Given the description of an element on the screen output the (x, y) to click on. 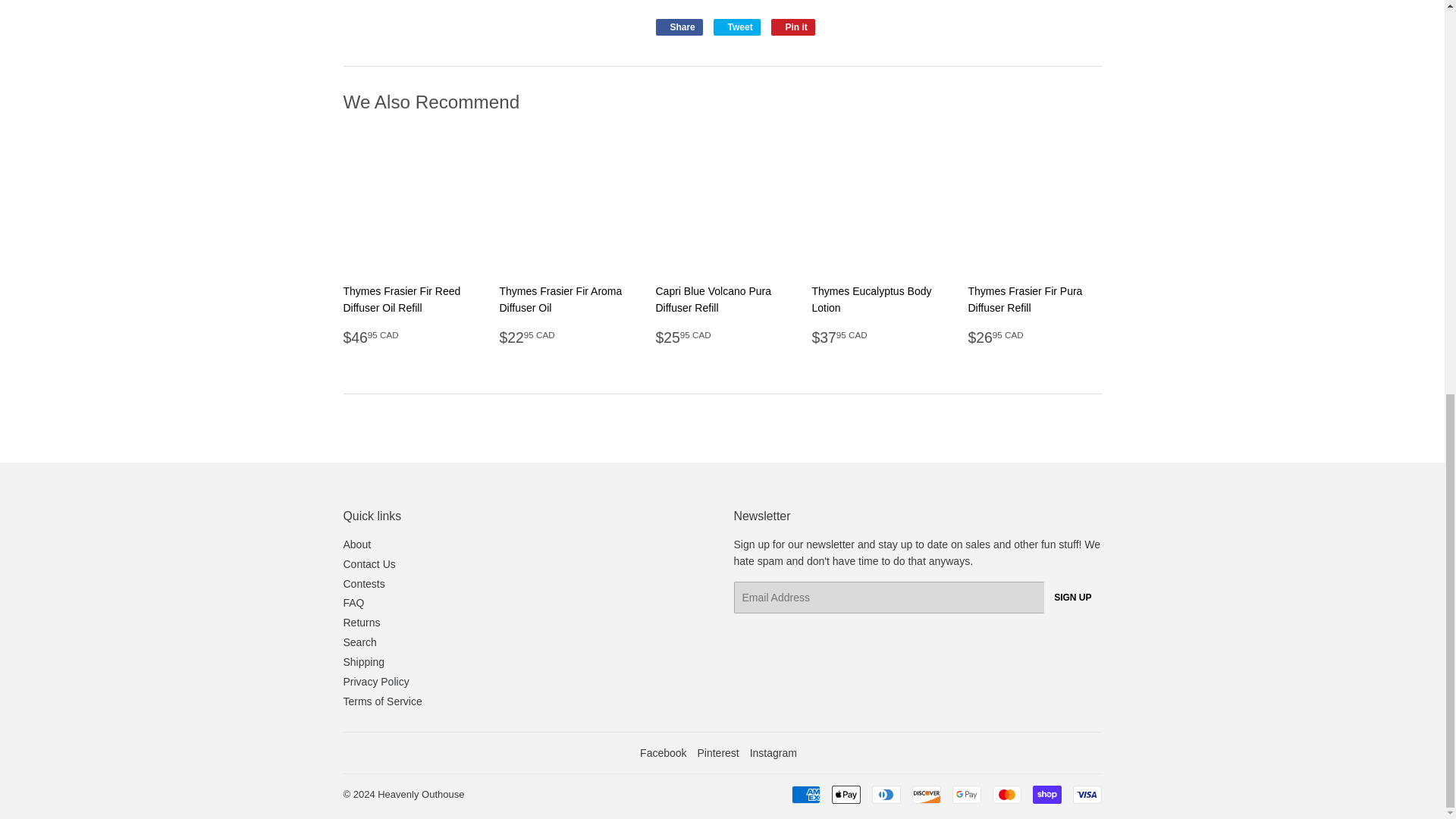
Pin on Pinterest (793, 27)
Diners Club (886, 794)
American Express (806, 794)
Apple Pay (845, 794)
Tweet on Twitter (736, 27)
Mastercard (1005, 794)
Share on Facebook (678, 27)
Shop Pay (1046, 794)
Discover (925, 794)
Heavenly Outhouse on Pinterest (717, 752)
Heavenly Outhouse on Facebook (662, 752)
Visa (1085, 794)
Heavenly Outhouse on Instagram (772, 752)
Google Pay (966, 794)
